Given the description of an element on the screen output the (x, y) to click on. 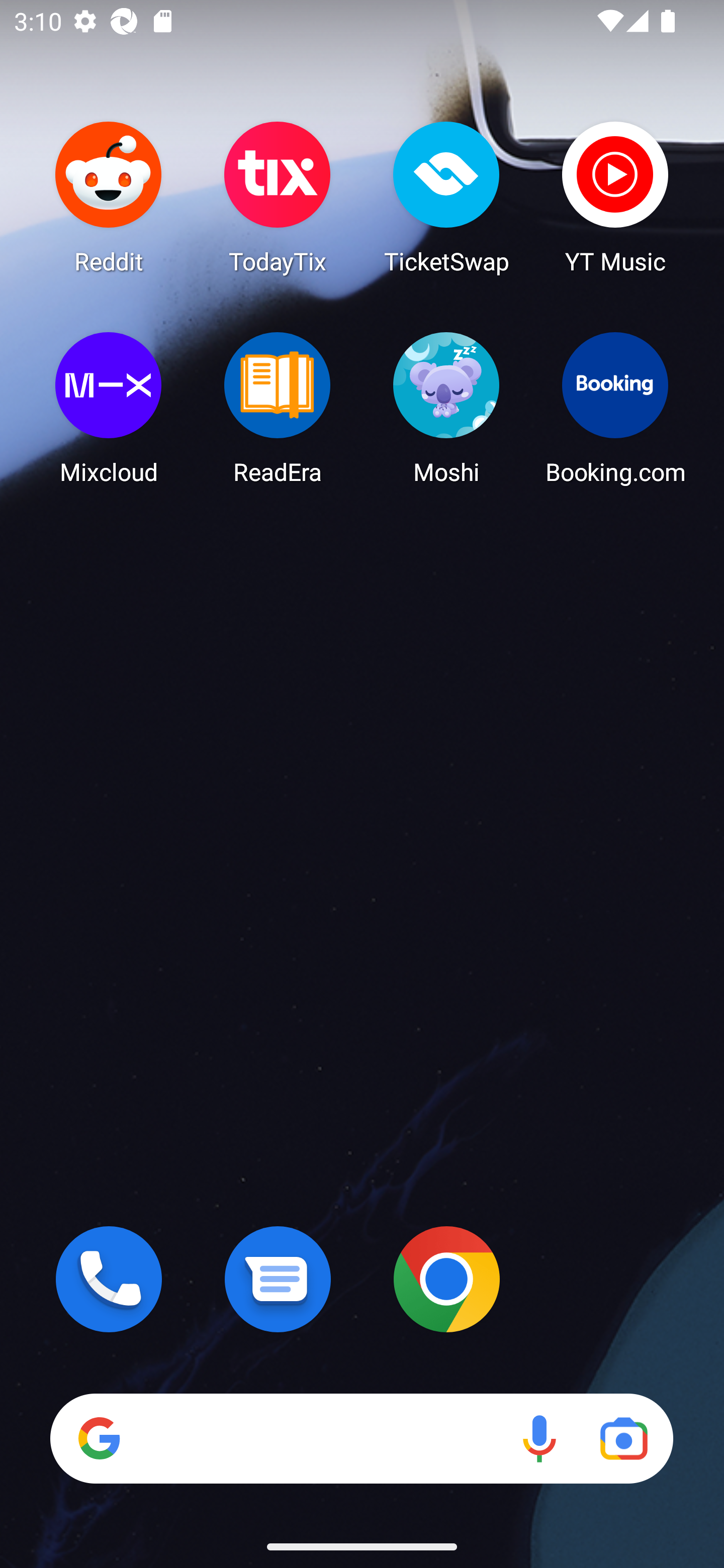
Reddit (108, 196)
TodayTix (277, 196)
TicketSwap (445, 196)
YT Music (615, 196)
Mixcloud (108, 407)
ReadEra (277, 407)
Moshi (445, 407)
Booking.com (615, 407)
Phone (108, 1279)
Messages (277, 1279)
Chrome (446, 1279)
Search Voice search Google Lens (361, 1438)
Voice search (539, 1438)
Google Lens (623, 1438)
